Given the description of an element on the screen output the (x, y) to click on. 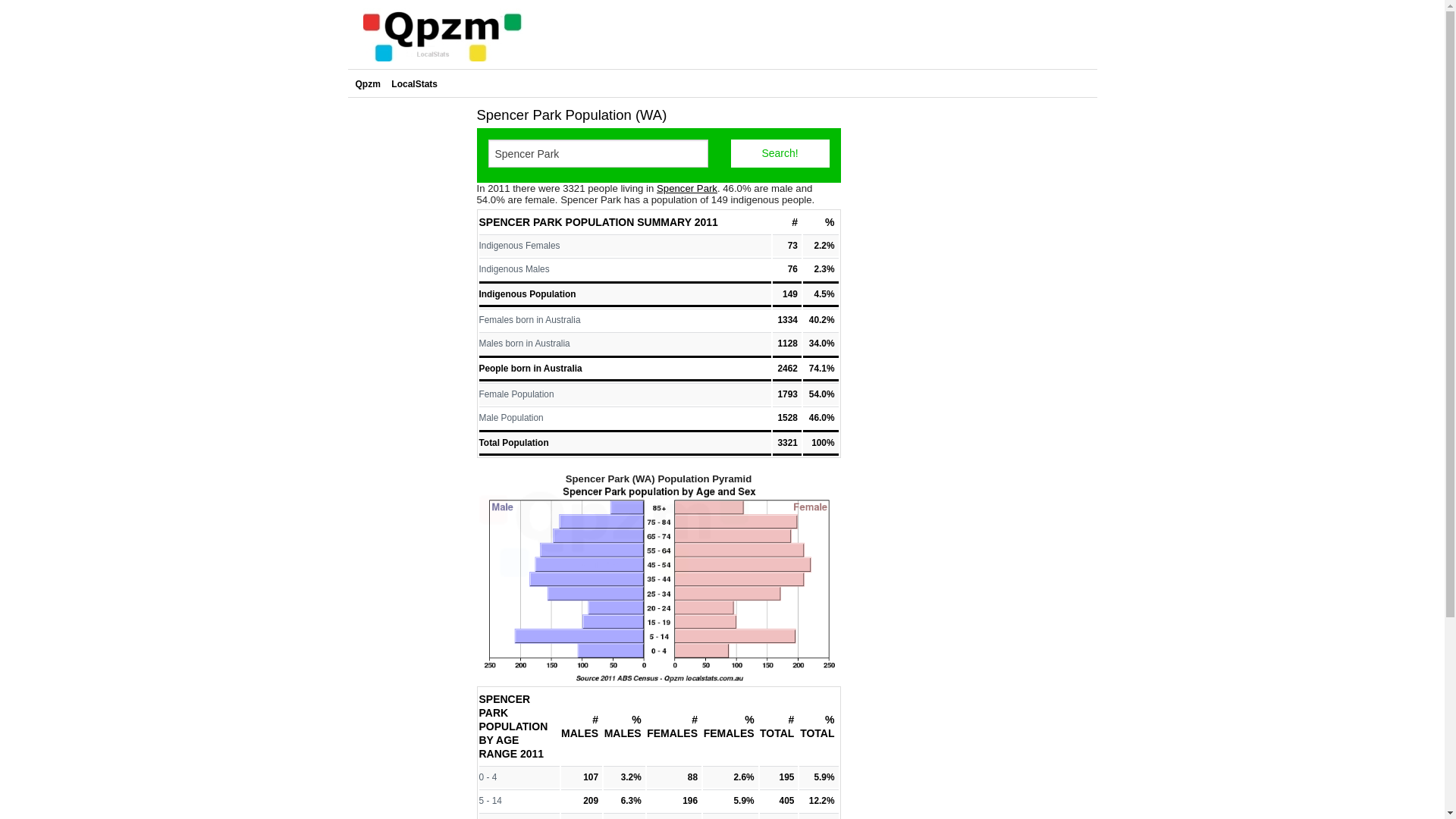
LocalStats Element type: text (414, 84)
Qpzm Element type: text (367, 84)
Advertisement Element type: hover (818, 34)
SPENCER PARK POPULATION Element type: text (556, 222)
Search! Element type: text (780, 153)
SPENCER PARK POPULATION BY AGE RANGE Element type: text (513, 726)
Spencer Park Element type: text (686, 188)
Advertisement Element type: hover (407, 328)
